Given the description of an element on the screen output the (x, y) to click on. 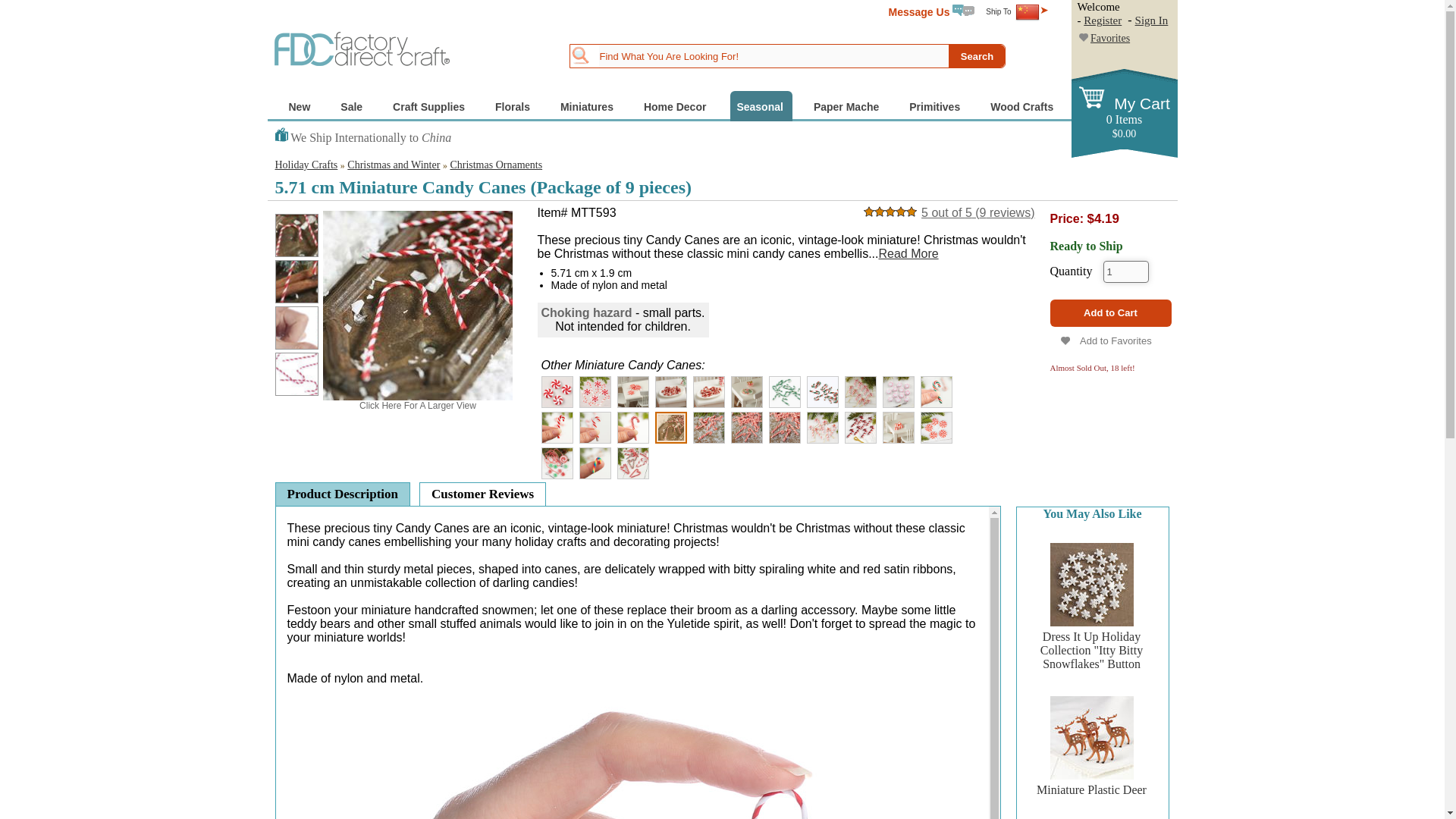
Add to Cart (1109, 311)
5 Star Average Rating (890, 211)
Add to Cart (1109, 311)
Read More (907, 253)
Sale (352, 105)
Register (1102, 20)
Search (976, 56)
Primitives (935, 105)
Miniatures (588, 105)
Message Us (931, 11)
Go to the home page (362, 48)
Sign In (1152, 19)
Seasonal (761, 105)
Add to Favorites (1109, 340)
